Given the description of an element on the screen output the (x, y) to click on. 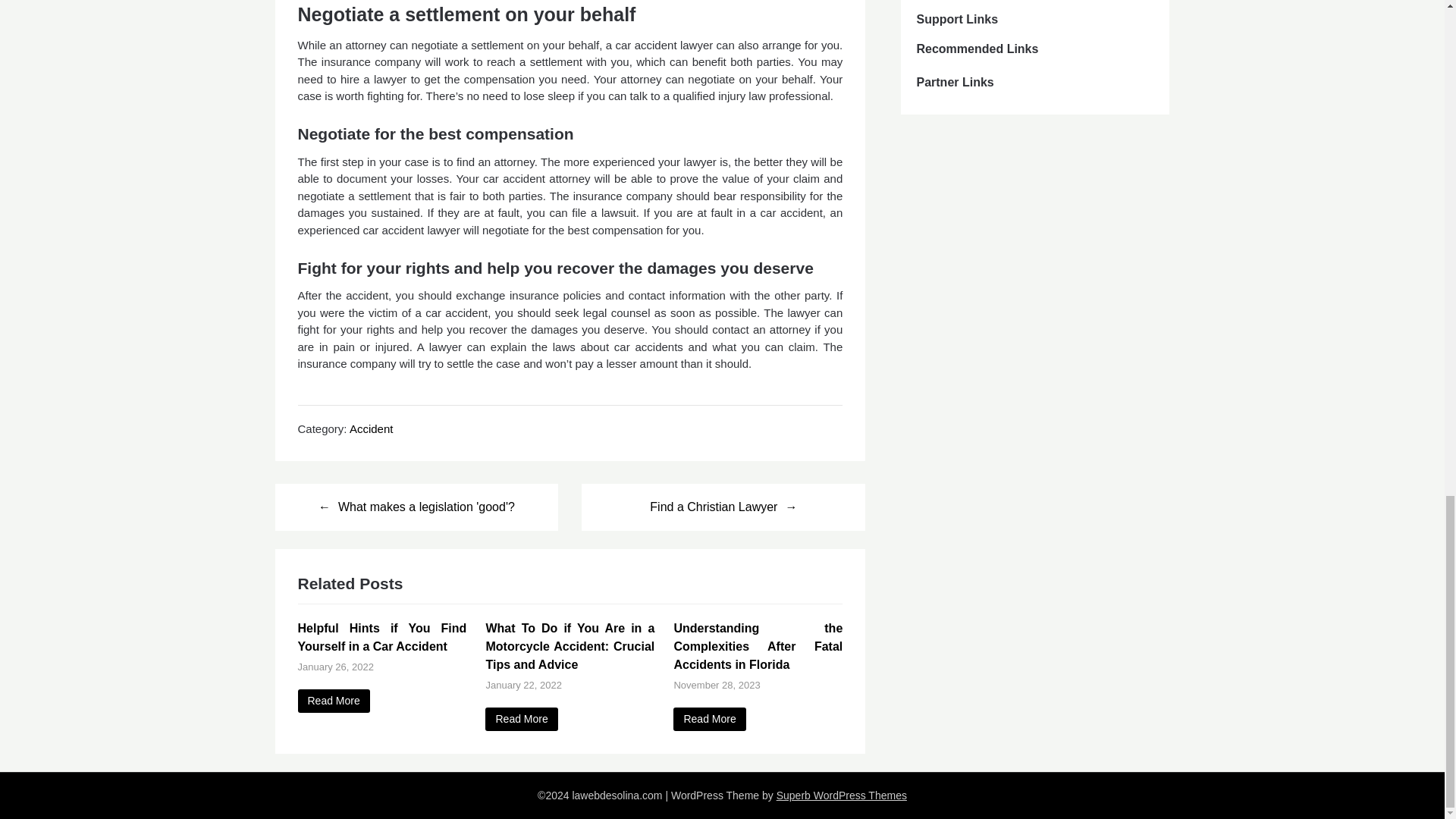
Helpful Hints if You Find Yourself in a Car Accident (333, 700)
